Given the description of an element on the screen output the (x, y) to click on. 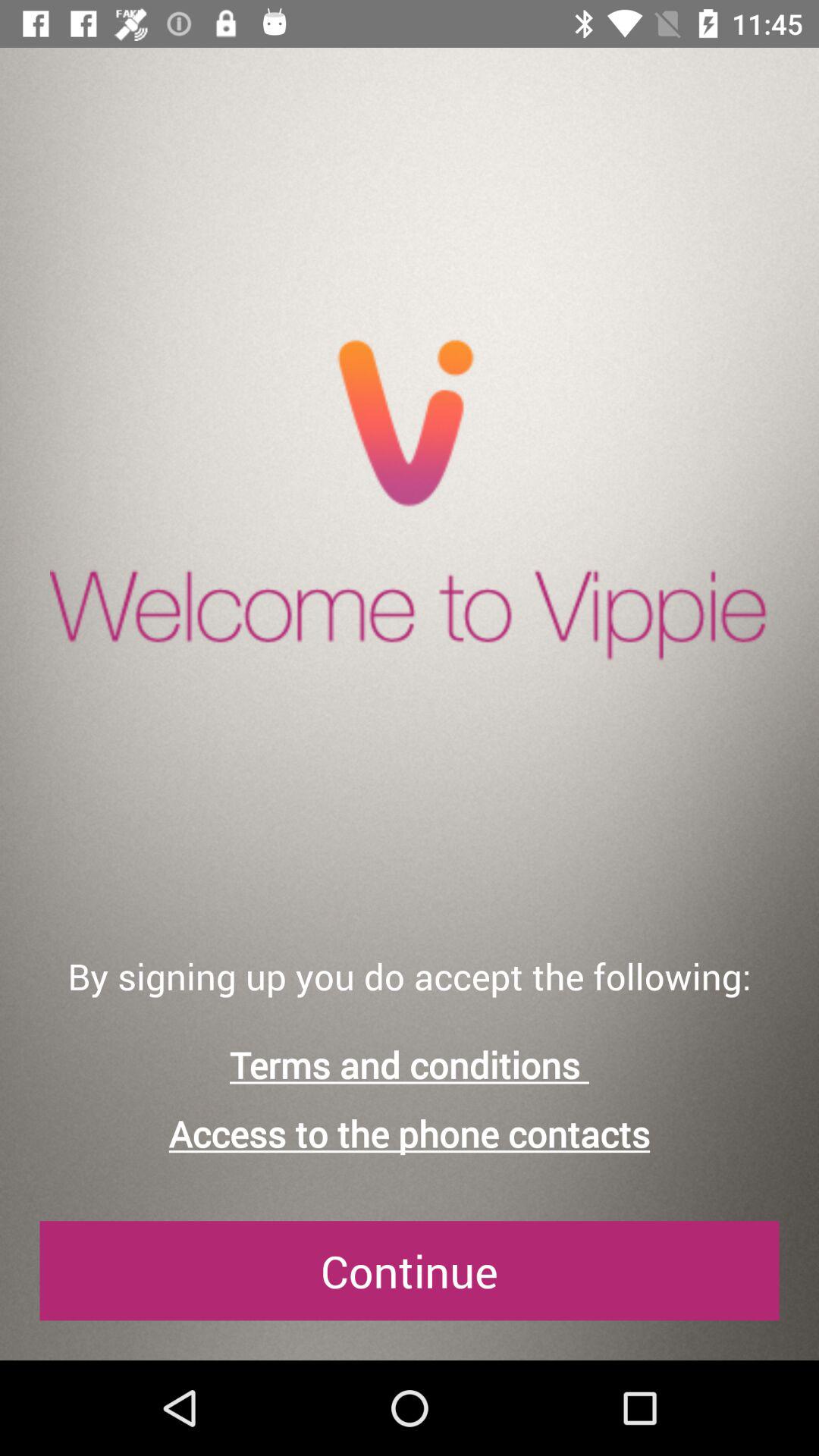
choose icon above access to the item (409, 1064)
